Given the description of an element on the screen output the (x, y) to click on. 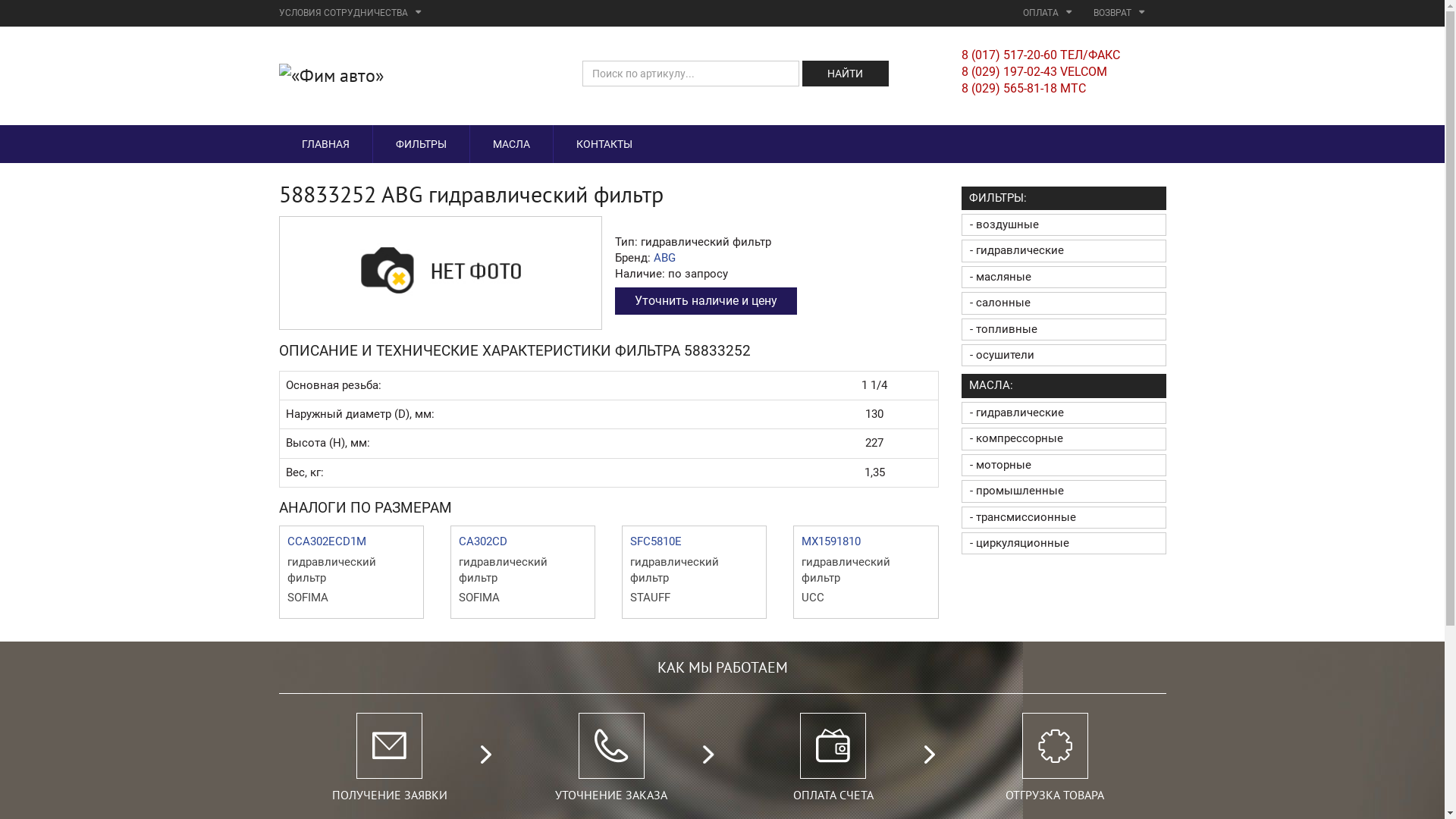
SFC5810E Element type: text (655, 541)
CCA302ECD1M Element type: text (325, 541)
58833252 Element type: hover (439, 270)
CA302CD Element type: text (482, 541)
MX1591810 Element type: text (830, 541)
ABG Element type: text (664, 257)
